Given the description of an element on the screen output the (x, y) to click on. 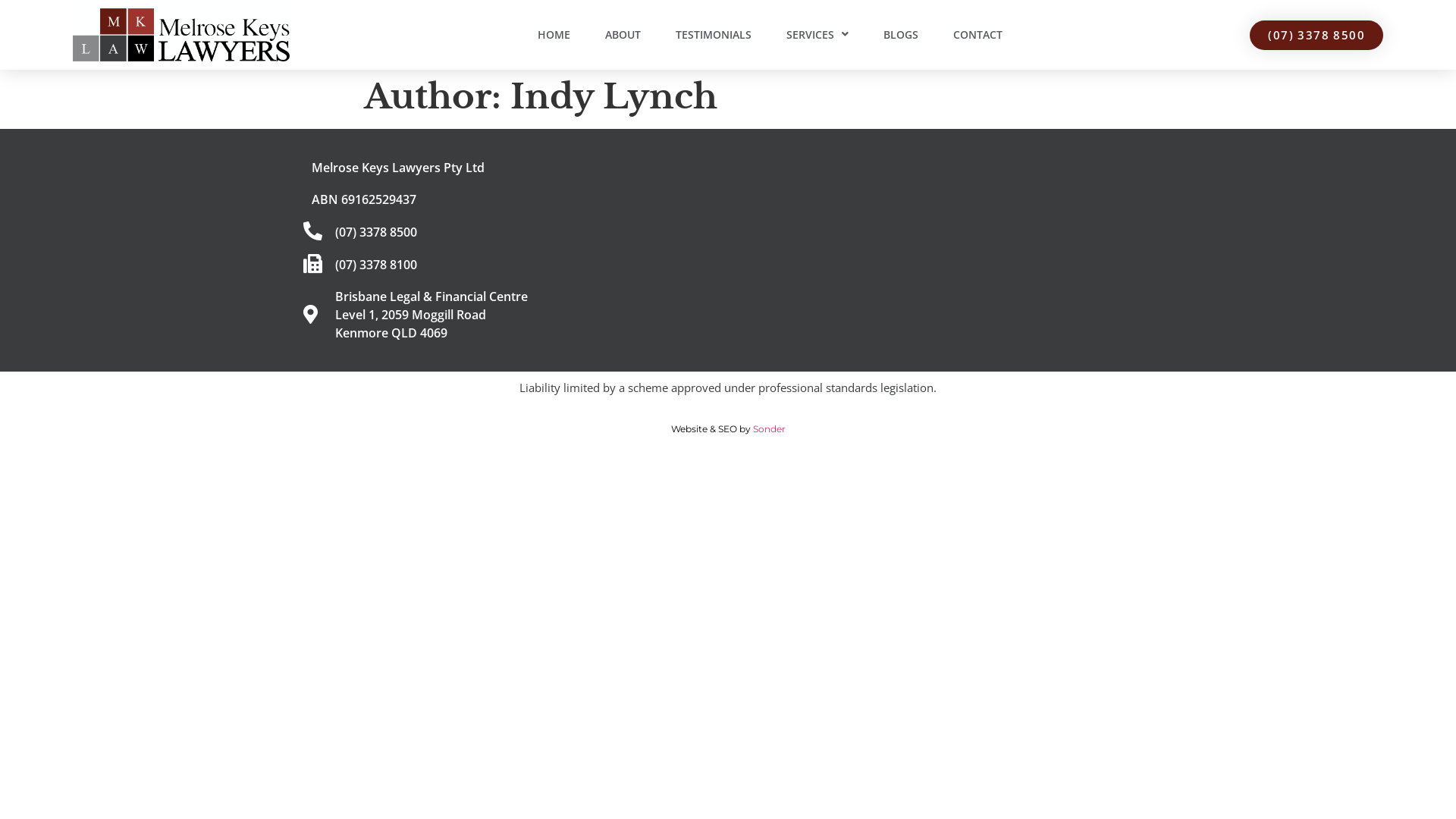
(07) 3378 8500 Element type: text (1316, 34)
HOME Element type: text (553, 34)
Melrose Keys Lawyers Kenmore Element type: hover (943, 250)
TESTIMONIALS Element type: text (713, 34)
Sonder Element type: text (768, 428)
SERVICES Element type: text (817, 34)
CONTACT Element type: text (977, 34)
BLOGS Element type: text (900, 34)
ABOUT Element type: text (622, 34)
